Given the description of an element on the screen output the (x, y) to click on. 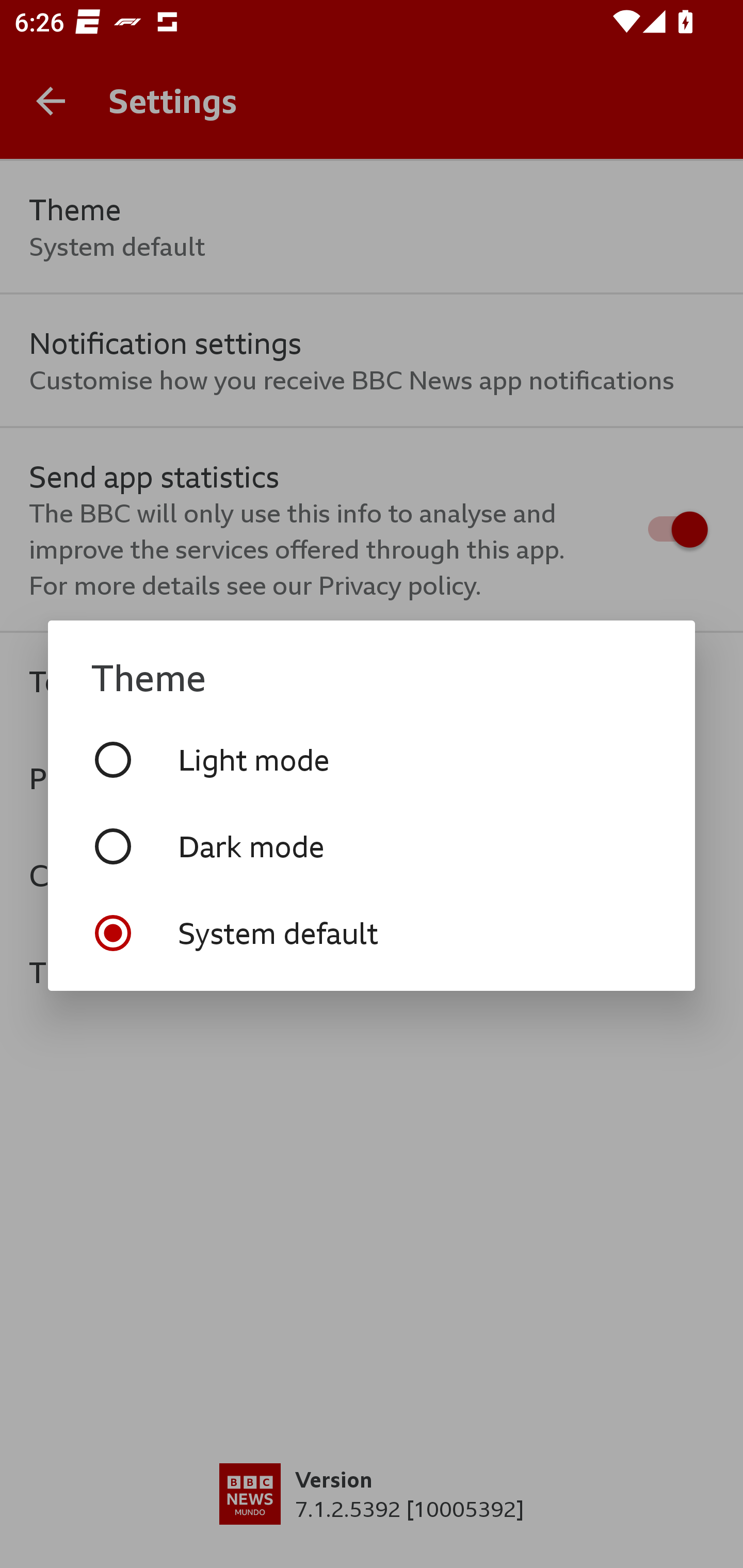
Light mode (371, 759)
Dark mode (371, 845)
System default (371, 932)
